Given the description of an element on the screen output the (x, y) to click on. 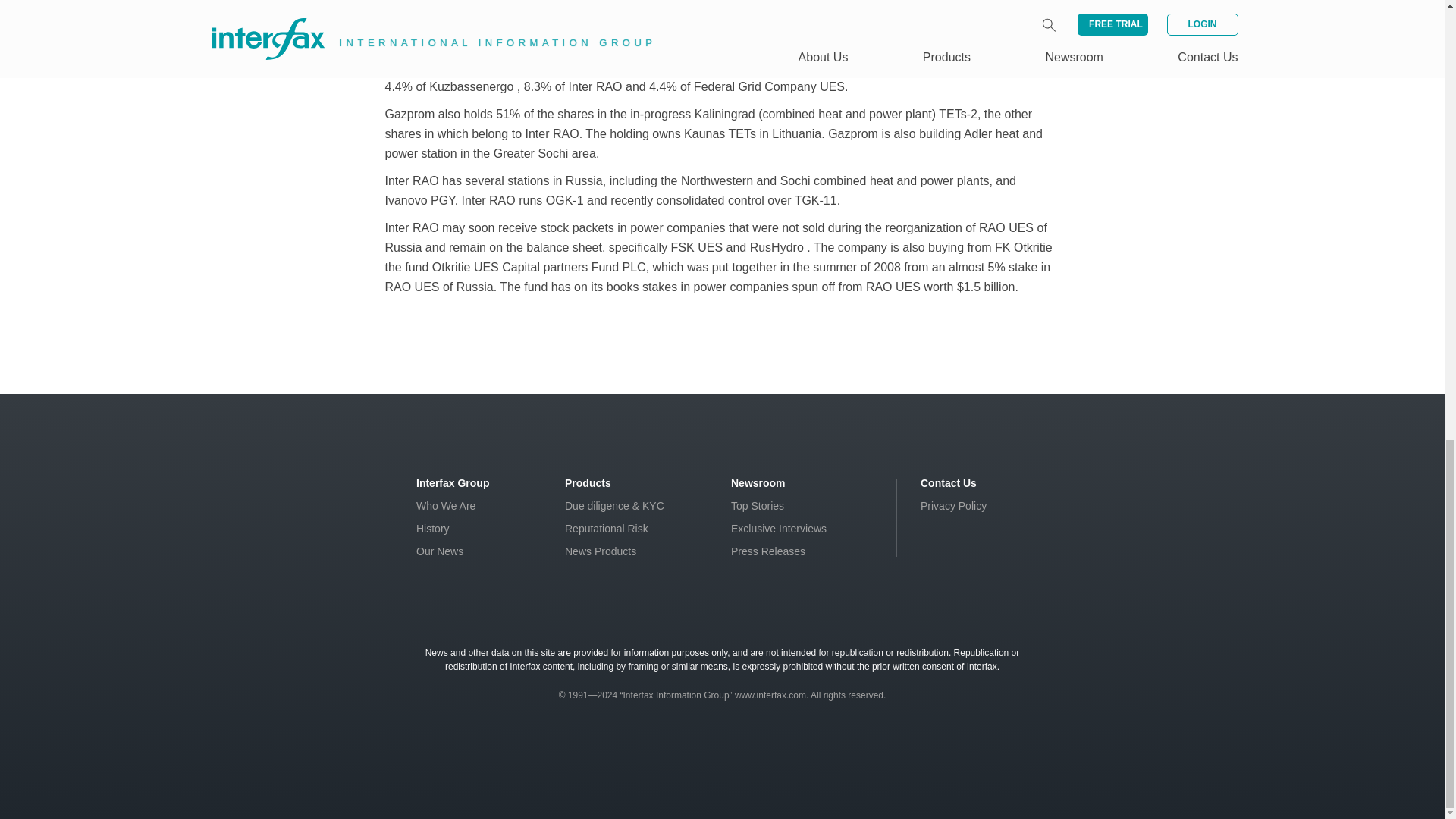
Our News (439, 551)
Who We Are (446, 505)
Interfax Group (452, 482)
History (432, 528)
